Given the description of an element on the screen output the (x, y) to click on. 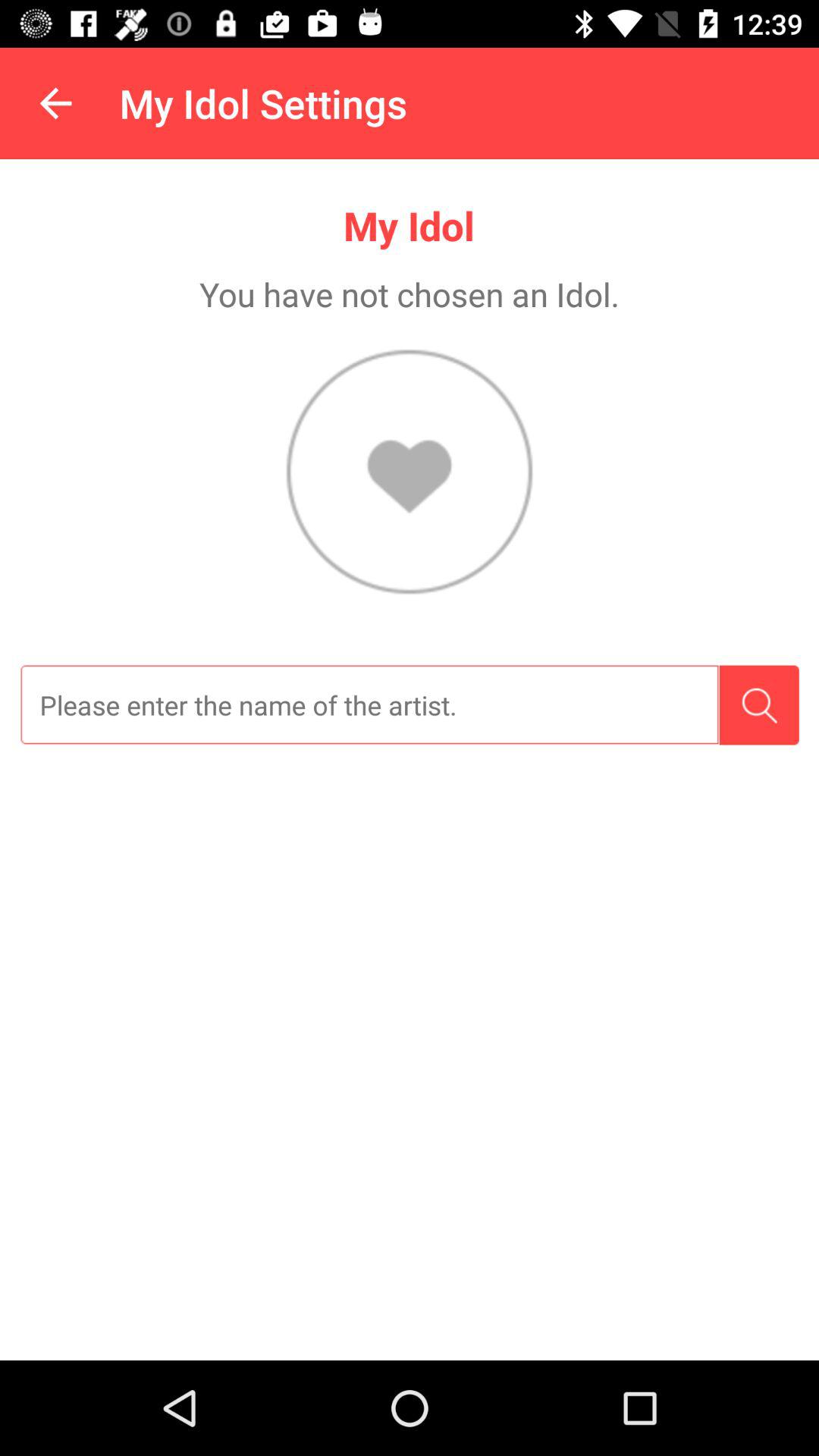
select the app next to my idol settings icon (55, 103)
